Given the description of an element on the screen output the (x, y) to click on. 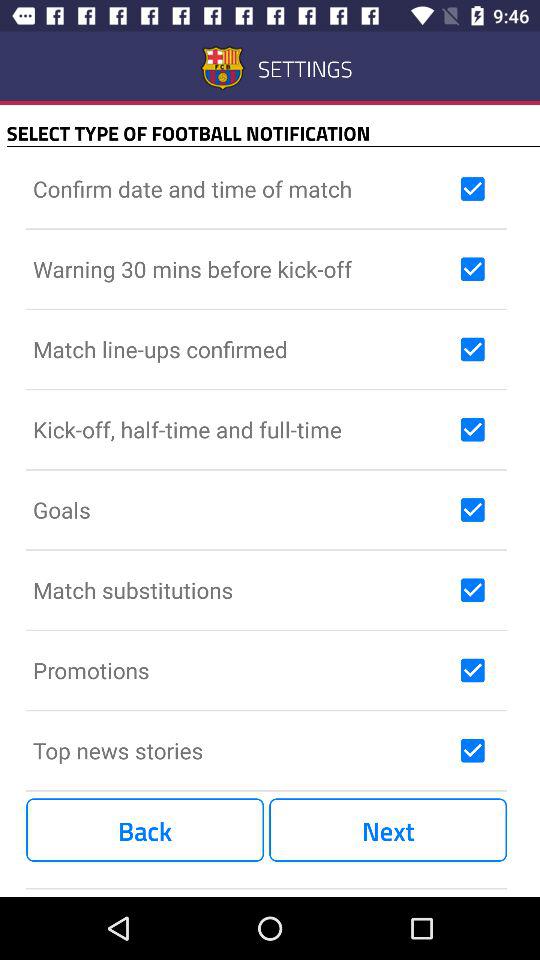
press item next to the next item (145, 829)
